Given the description of an element on the screen output the (x, y) to click on. 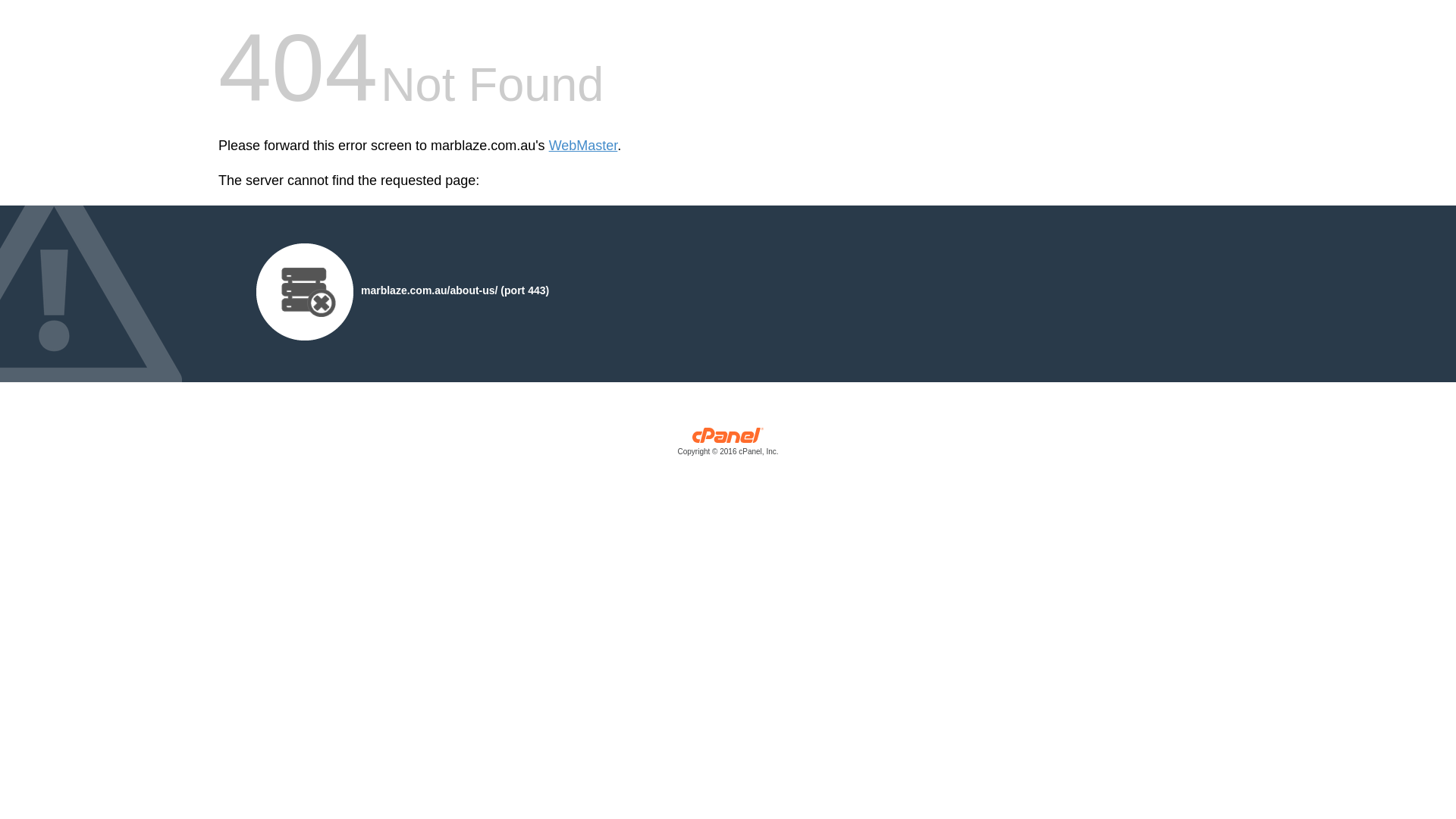
WebMaster Element type: text (583, 145)
